Given the description of an element on the screen output the (x, y) to click on. 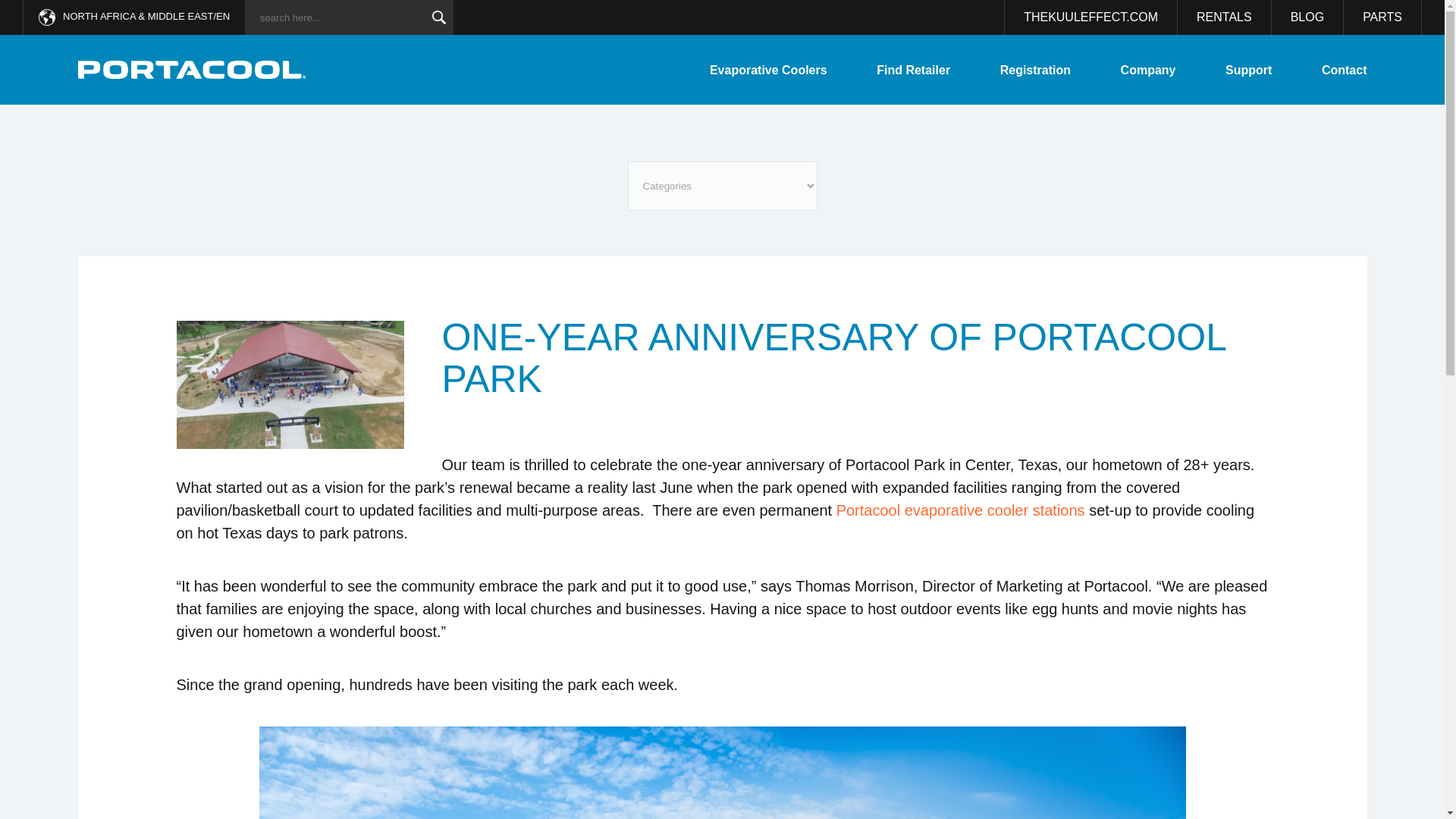
Contact (1344, 69)
Find Retailer (913, 69)
Support (1248, 69)
RENTALS (1224, 17)
Company (1148, 69)
PARTS (1382, 17)
Search (438, 17)
Portacool evaporative cooler stations (959, 510)
Search (438, 17)
Evaporative Coolers (768, 69)
THEKUULEFFECT.COM (1090, 17)
Registration (1035, 69)
BLOG (1307, 17)
